Given the description of an element on the screen output the (x, y) to click on. 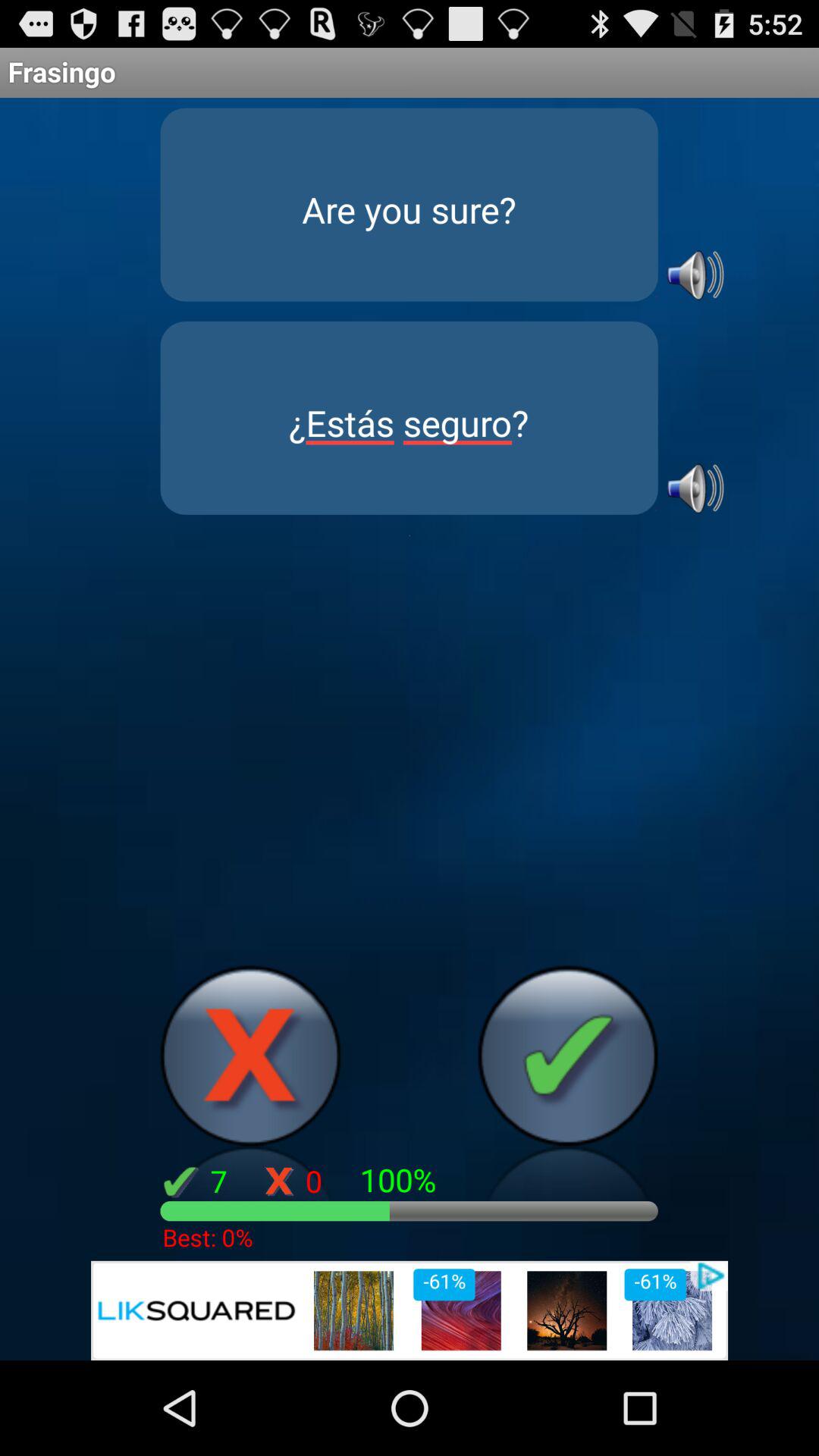
multiple advertisements (409, 1310)
